Given the description of an element on the screen output the (x, y) to click on. 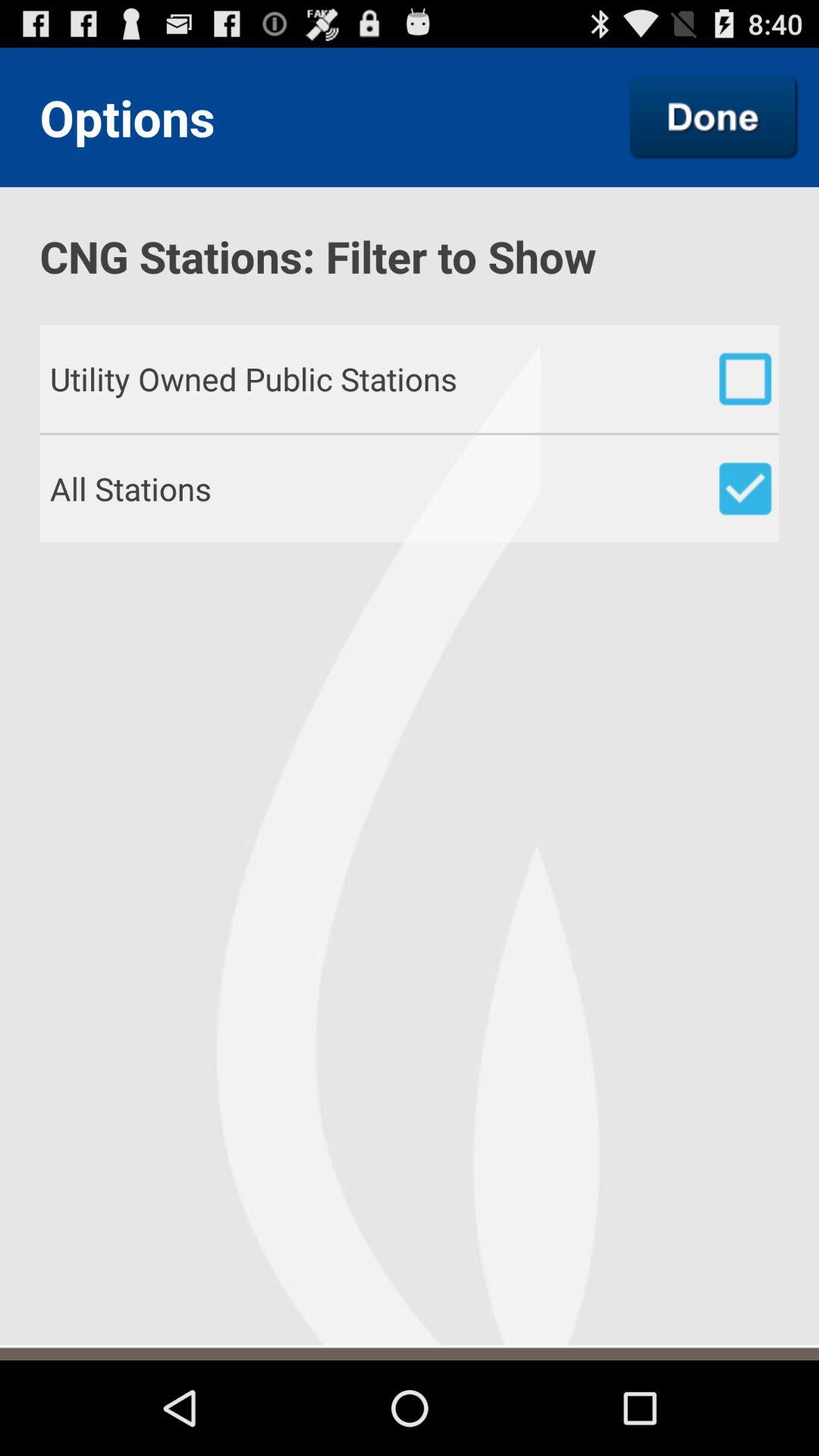
finish and close the form (714, 117)
